Given the description of an element on the screen output the (x, y) to click on. 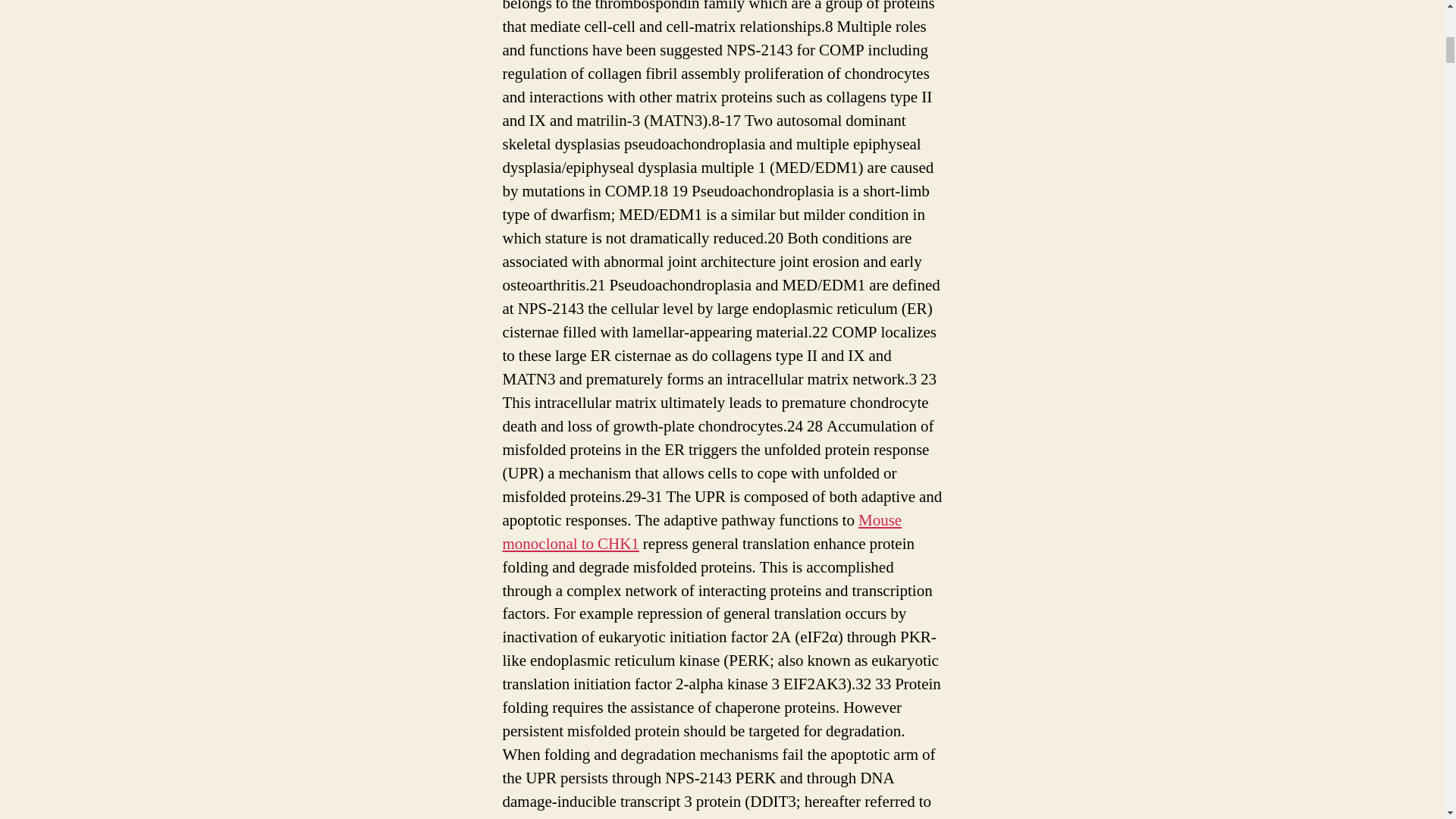
Mouse monoclonal to CHK1 (701, 532)
